Given the description of an element on the screen output the (x, y) to click on. 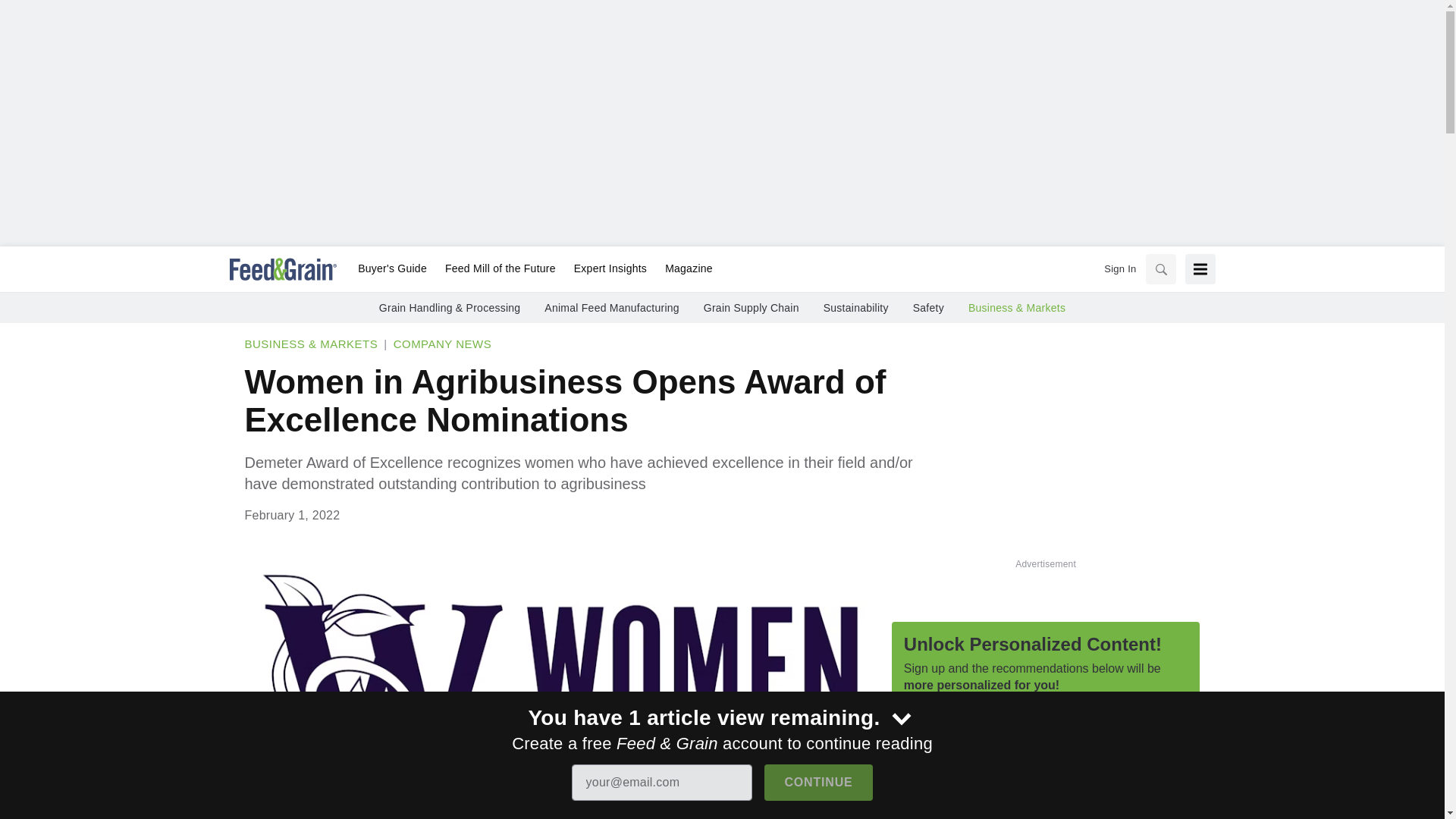
Animal Feed Manufacturing (611, 307)
Buyer's Guide (392, 269)
Grain Supply Chain (751, 307)
Company News (442, 343)
Expert Insights (610, 269)
Sign In (1119, 268)
Sustainability (856, 307)
Feed Mill of the Future (499, 269)
Magazine (684, 269)
Safety (927, 307)
